Given the description of an element on the screen output the (x, y) to click on. 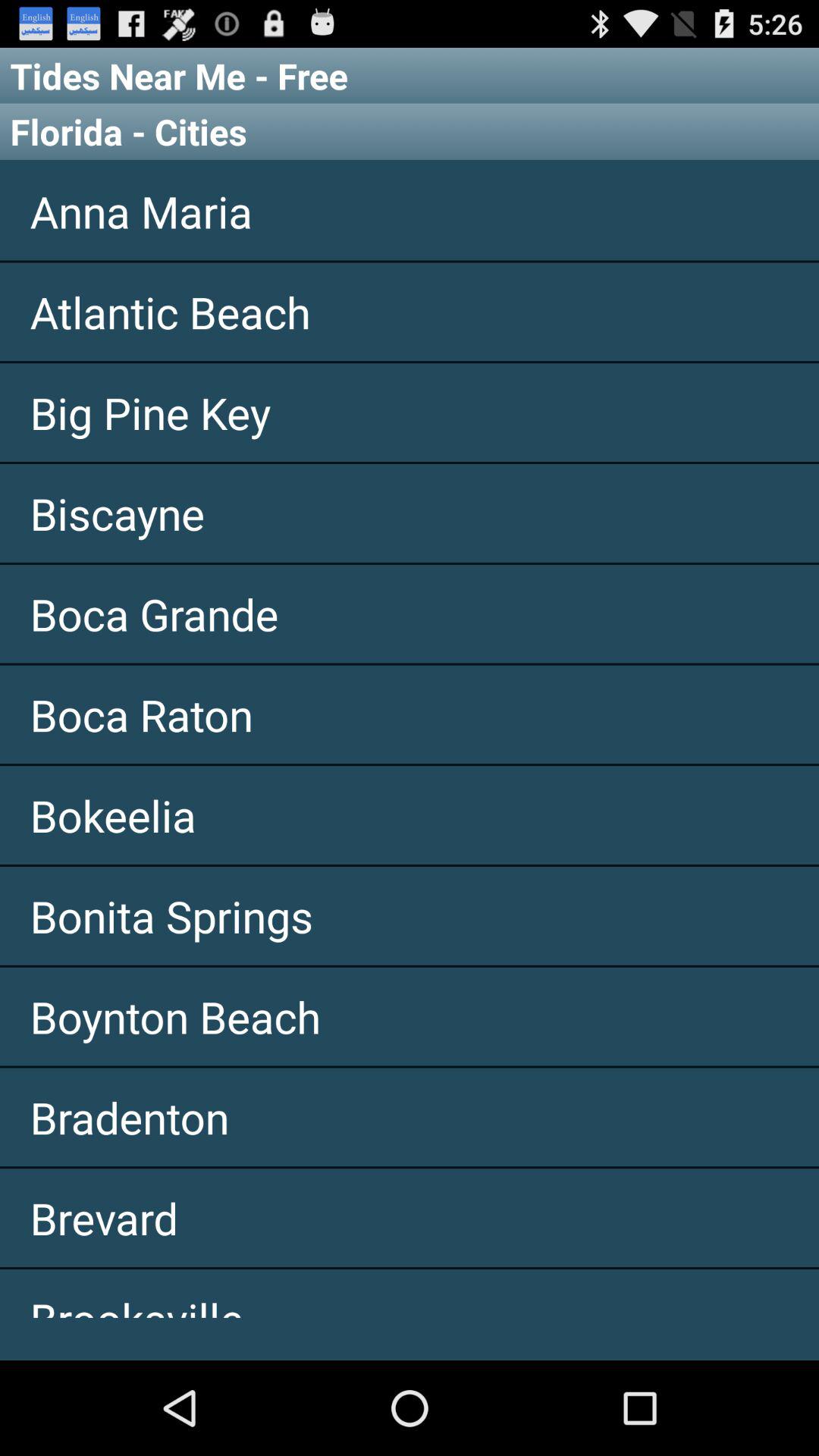
turn on the item below the biscayne app (409, 613)
